Given the description of an element on the screen output the (x, y) to click on. 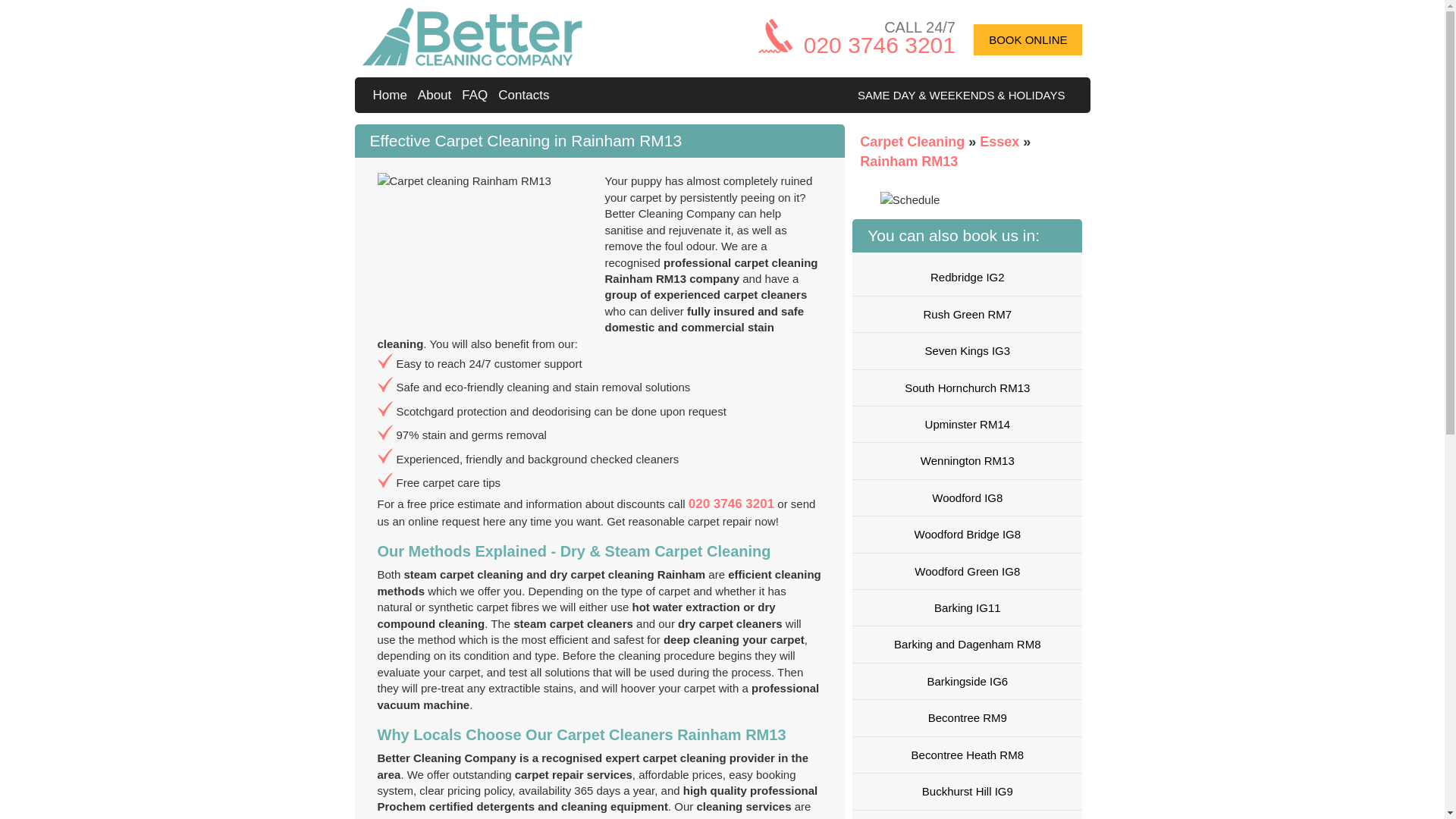
BOOK ONLINE (1027, 39)
Contacts (525, 94)
Redbridge IG2 (966, 276)
Better Cleaning Company (391, 94)
Better Cleaning Company (472, 61)
020 3746 3201 (731, 503)
Rainham RM13 (909, 160)
Carpet Cleaning (914, 141)
FAQ (476, 94)
Rush Green RM7 (966, 314)
BOOK ONLINE (1027, 39)
020 3746 3201 (879, 45)
